Given the description of an element on the screen output the (x, y) to click on. 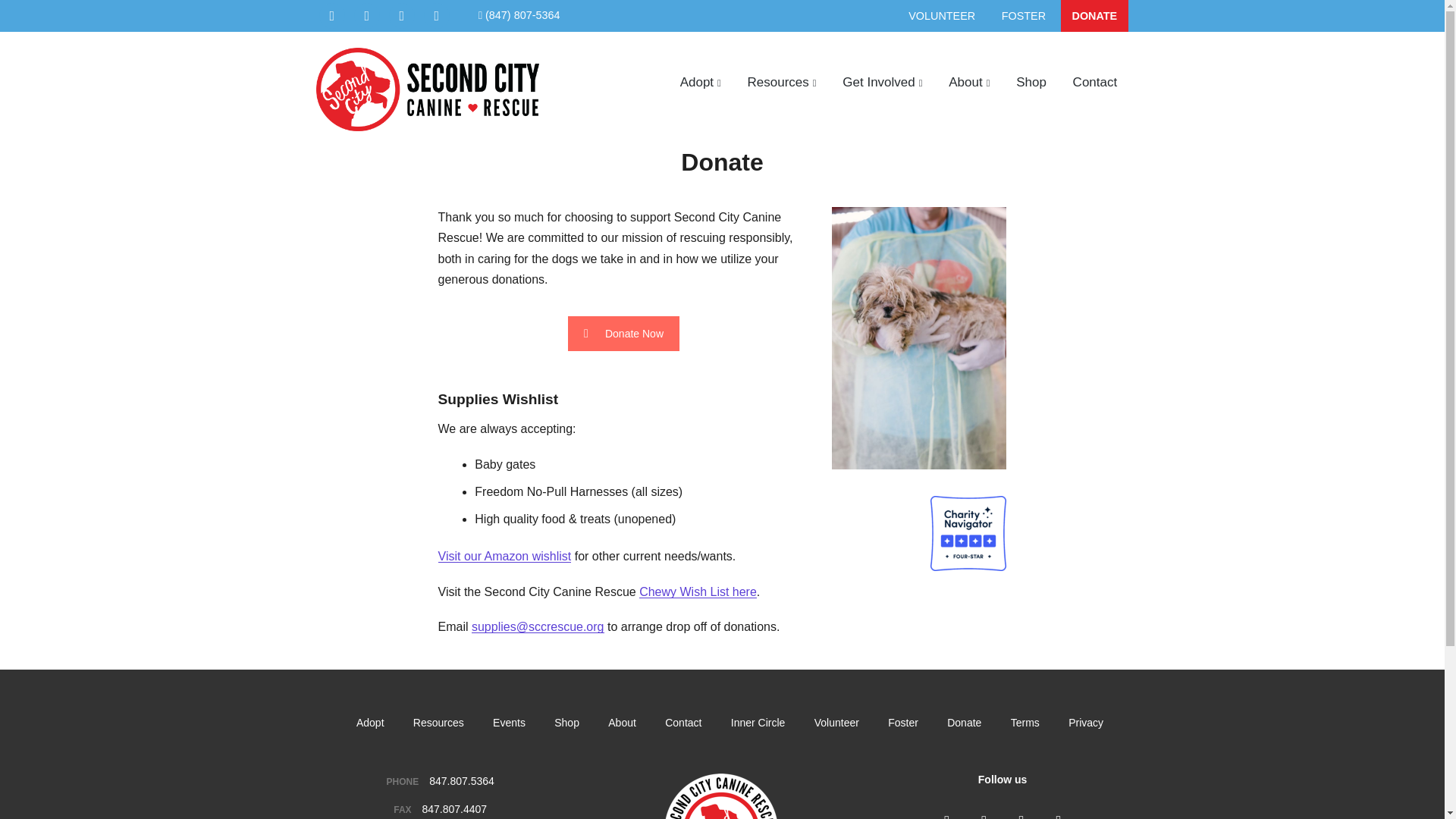
Facebook (946, 816)
Instagram (983, 816)
DONATE (1093, 15)
tiktok (436, 15)
Adopt (699, 82)
Second City Canine Rescue (402, 154)
FOSTER (1023, 15)
VOLUNTEER (941, 15)
instagram (366, 15)
facebook (331, 15)
linkedin (401, 15)
Default Label (366, 15)
Four-Star Rating Badge - Full Color (968, 533)
Default Label (331, 15)
